Given the description of an element on the screen output the (x, y) to click on. 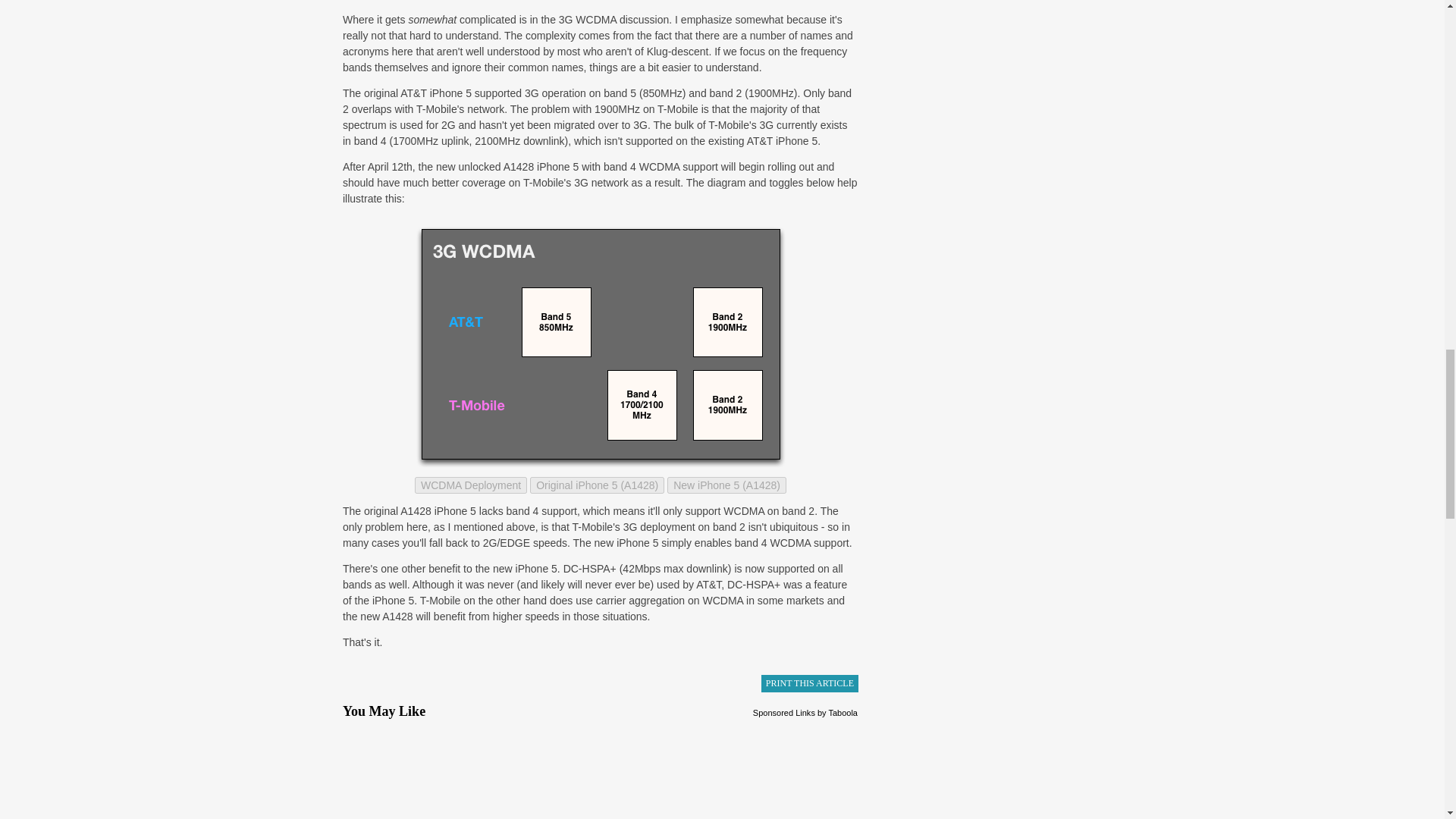
What is your writing missing? (424, 771)
Celebrity Wedding Photos You've Probably Never Seen Before (776, 771)
WCDMA Deployment (470, 484)
